Given the description of an element on the screen output the (x, y) to click on. 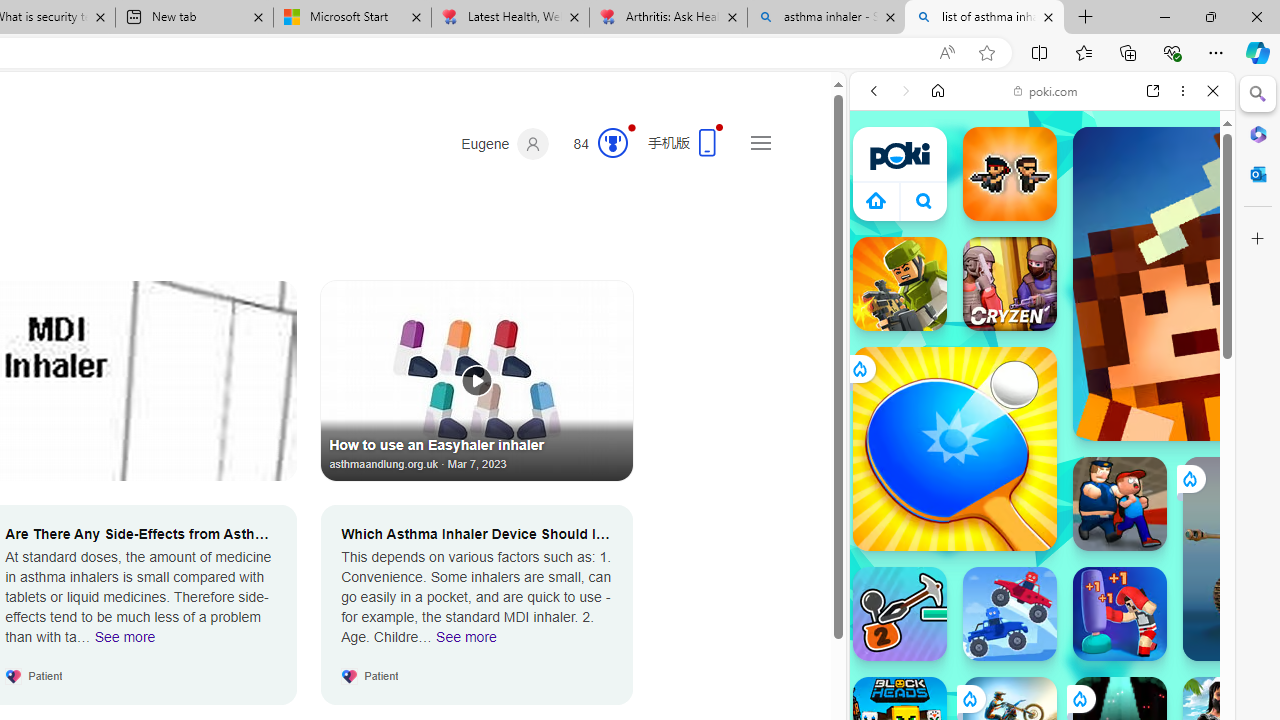
Battle Wheels Battle Wheels (1009, 613)
list of asthma inhalers uk - Search (984, 17)
Zombie Rush Zombie Rush (1009, 173)
WEB   (882, 228)
Punch Legend Simulator (1119, 613)
Eugene (505, 143)
poki.com (1046, 90)
Stickman Climb 2 Stickman Climb 2 (899, 613)
Ping Pong Go! (954, 448)
